Given the description of an element on the screen output the (x, y) to click on. 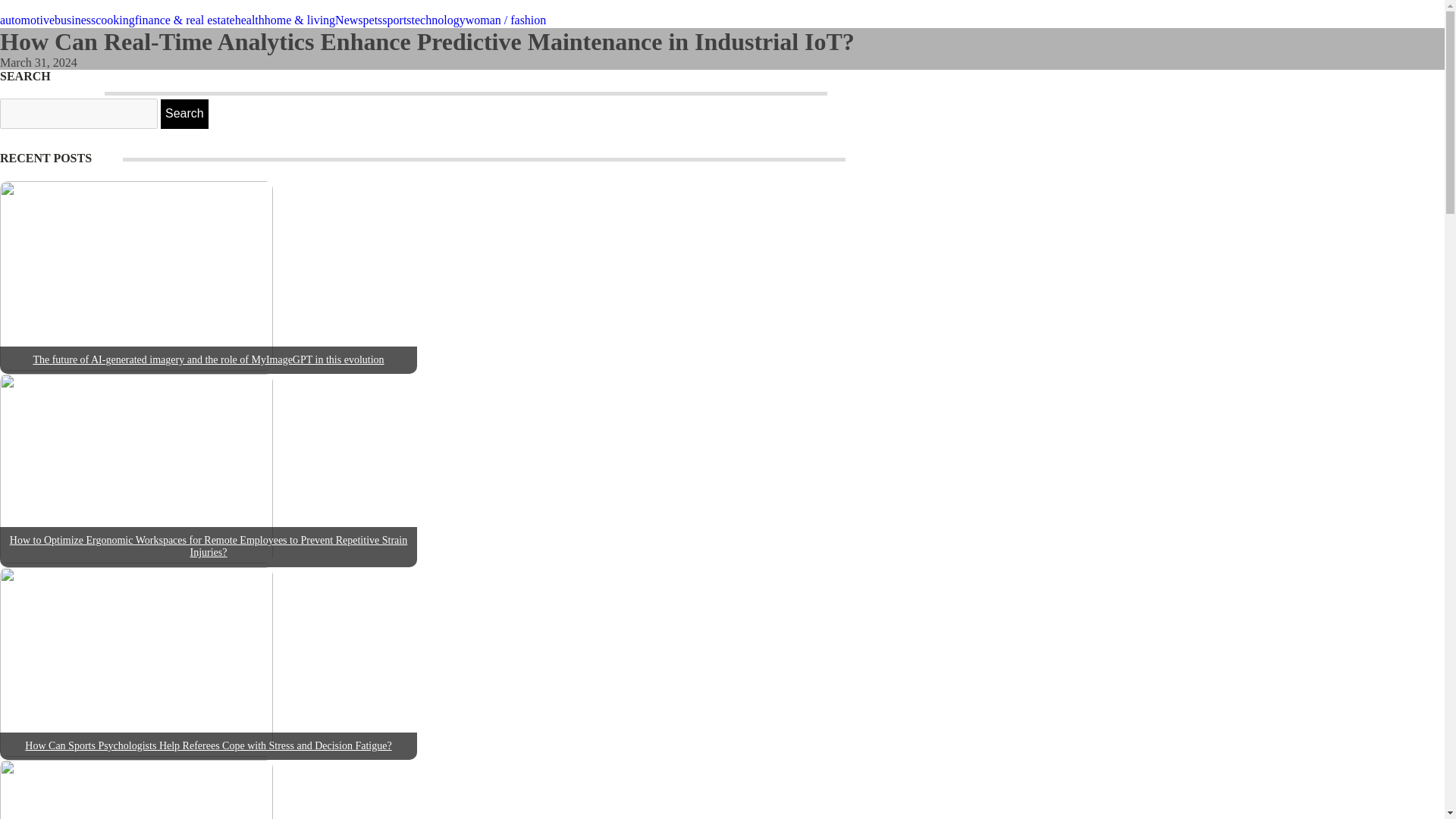
pets (372, 20)
sports (395, 20)
News (348, 20)
automotive (27, 20)
health (249, 20)
cooking (115, 20)
business (75, 20)
Search (184, 113)
technology (438, 20)
Search (184, 113)
